Given the description of an element on the screen output the (x, y) to click on. 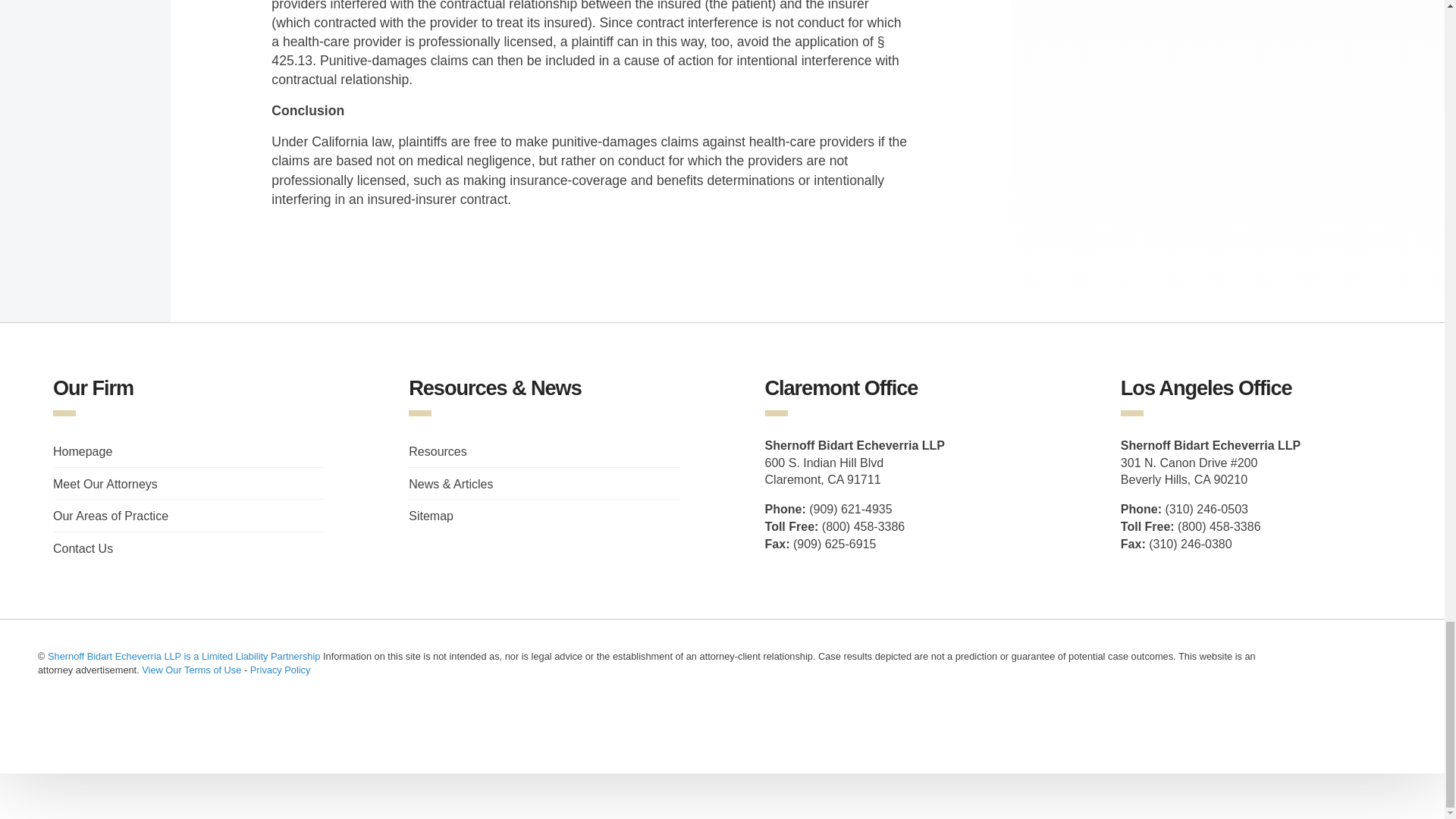
Privacy Policy (280, 669)
View Our Terms of Use (191, 669)
Legal Website Builder (77, 721)
